Given the description of an element on the screen output the (x, y) to click on. 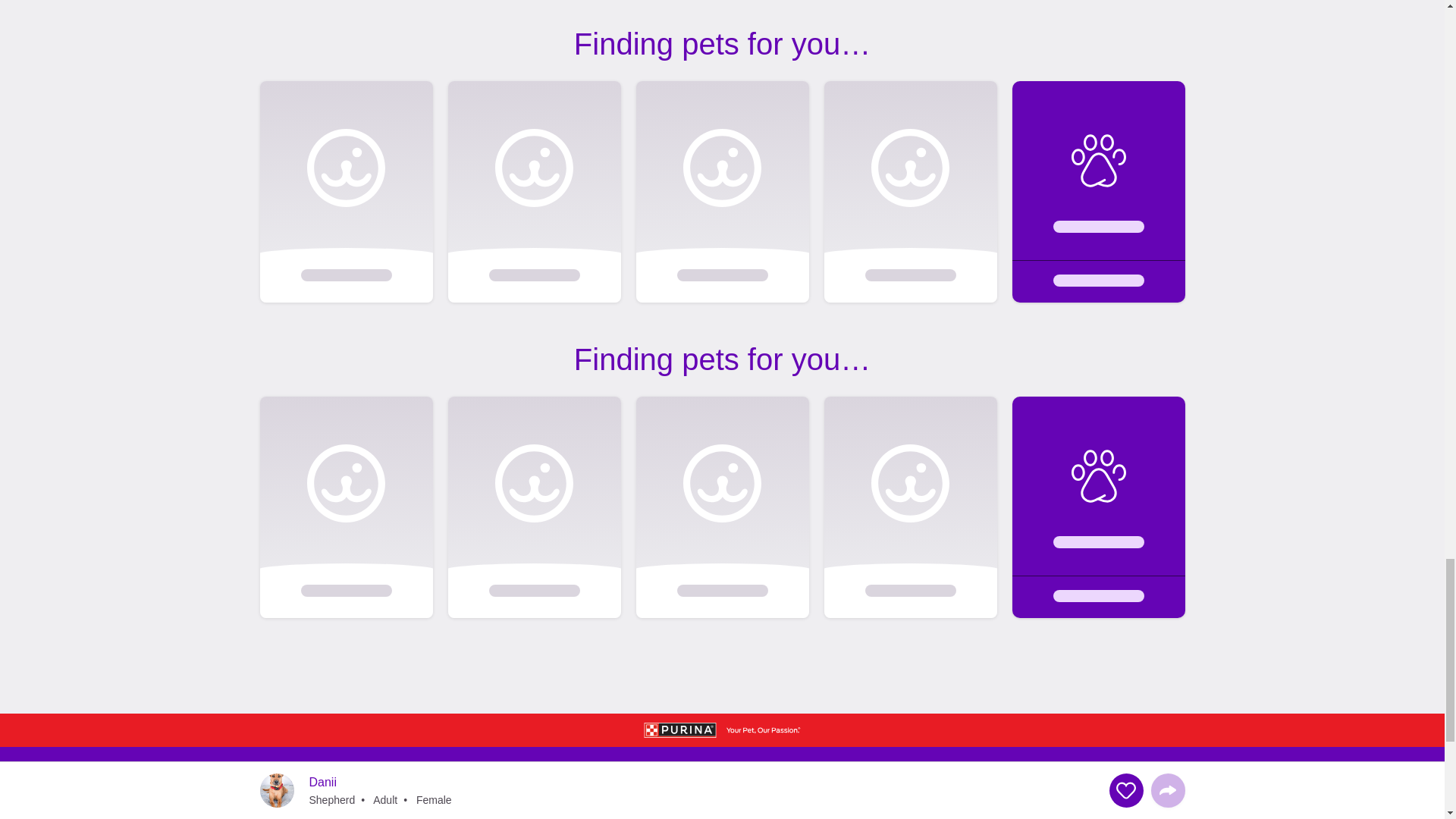
Petfinder Logo (307, 790)
